Given the description of an element on the screen output the (x, y) to click on. 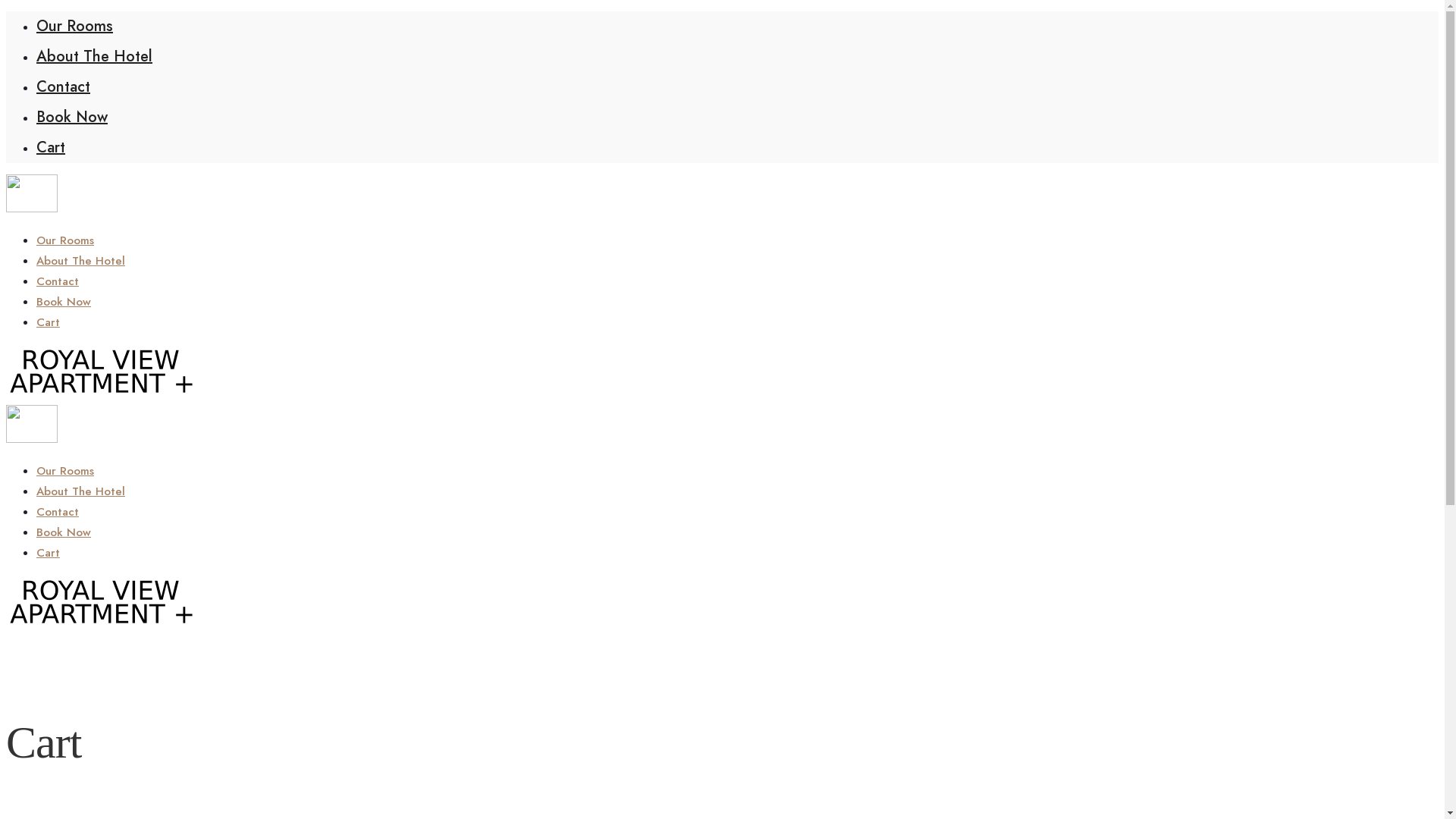
Contact Element type: text (57, 511)
Our Rooms Element type: text (65, 470)
Book Now Element type: text (63, 301)
Book Now Element type: text (71, 117)
Cart Element type: text (47, 552)
Our Rooms Element type: text (74, 26)
Book Now Element type: text (63, 532)
About The Hotel Element type: text (94, 56)
Our Rooms Element type: text (65, 240)
Contact Element type: text (57, 281)
Cart Element type: text (50, 147)
Cart Element type: text (47, 321)
About The Hotel Element type: text (80, 260)
About The Hotel Element type: text (80, 491)
Contact Element type: text (63, 86)
